Given the description of an element on the screen output the (x, y) to click on. 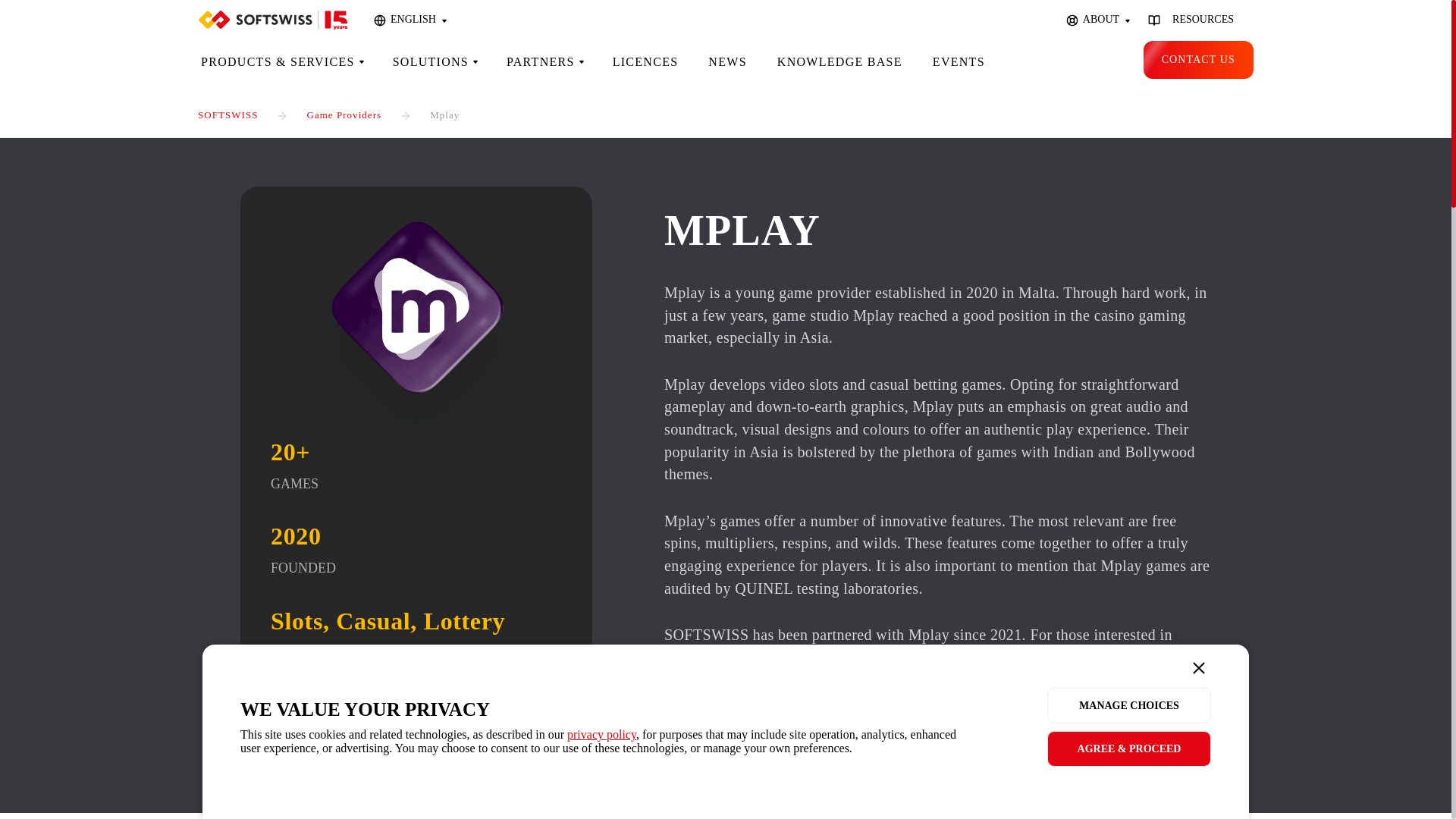
LICENCES (644, 62)
Game Providers (343, 114)
PARTNERS (544, 62)
ENGLISH (410, 19)
KNOWLEDGE BASE (839, 62)
SOFTSWISS (227, 114)
SOLUTIONS (433, 62)
RESOURCES (1195, 19)
NEWS (726, 62)
SOFTSWISS.com (272, 19)
CONTACT US (1197, 59)
EVENTS (958, 62)
GET MPLAY GAMES (731, 739)
English (410, 19)
